Given the description of an element on the screen output the (x, y) to click on. 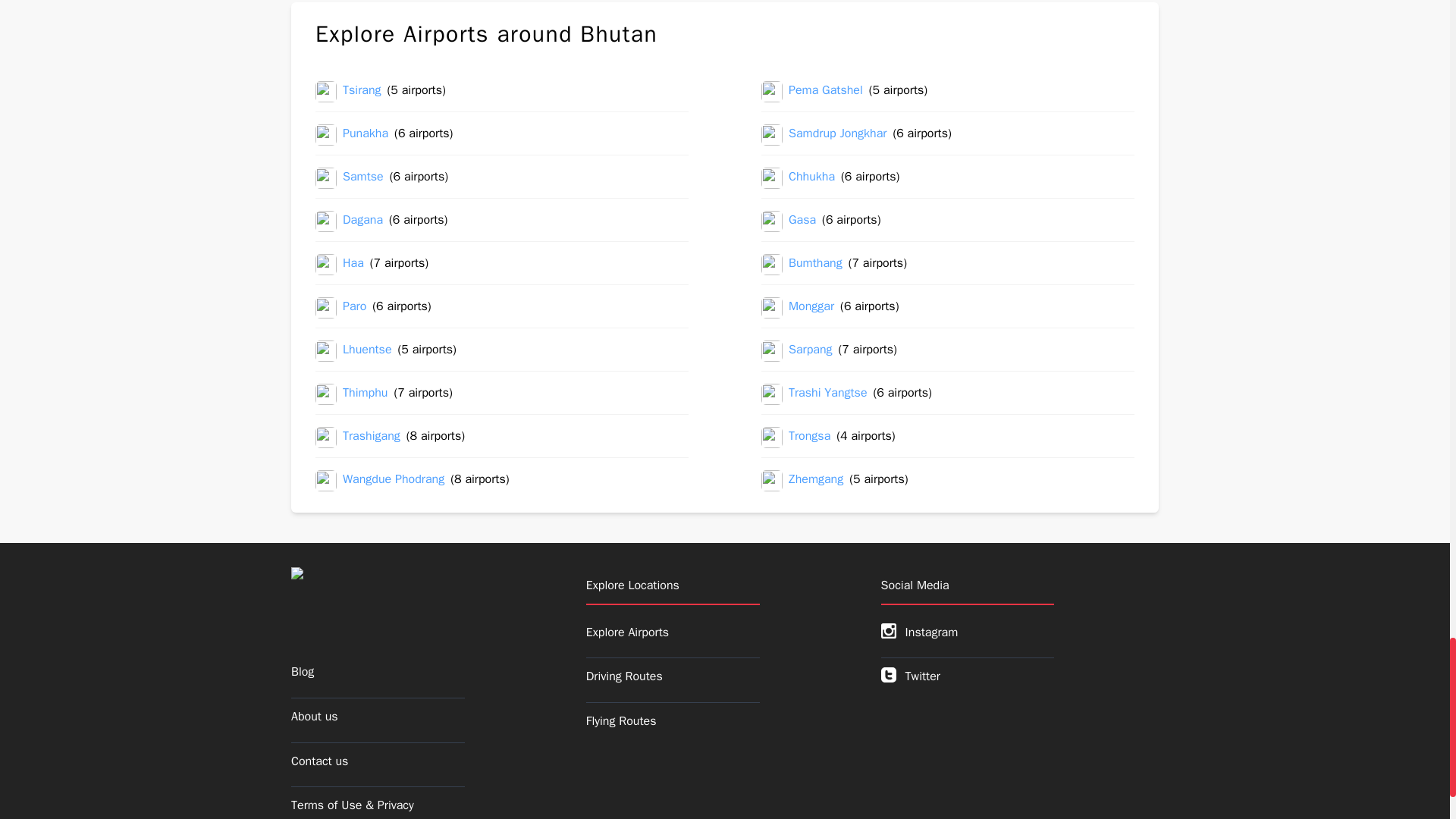
Punakha (365, 134)
Dagana (362, 220)
Samtse (363, 178)
Chhukha (811, 178)
Pema Gatshel (826, 91)
Gasa (802, 220)
Samdrup Jongkhar (837, 134)
Haa (353, 264)
Tsirang (361, 91)
